Given the description of an element on the screen output the (x, y) to click on. 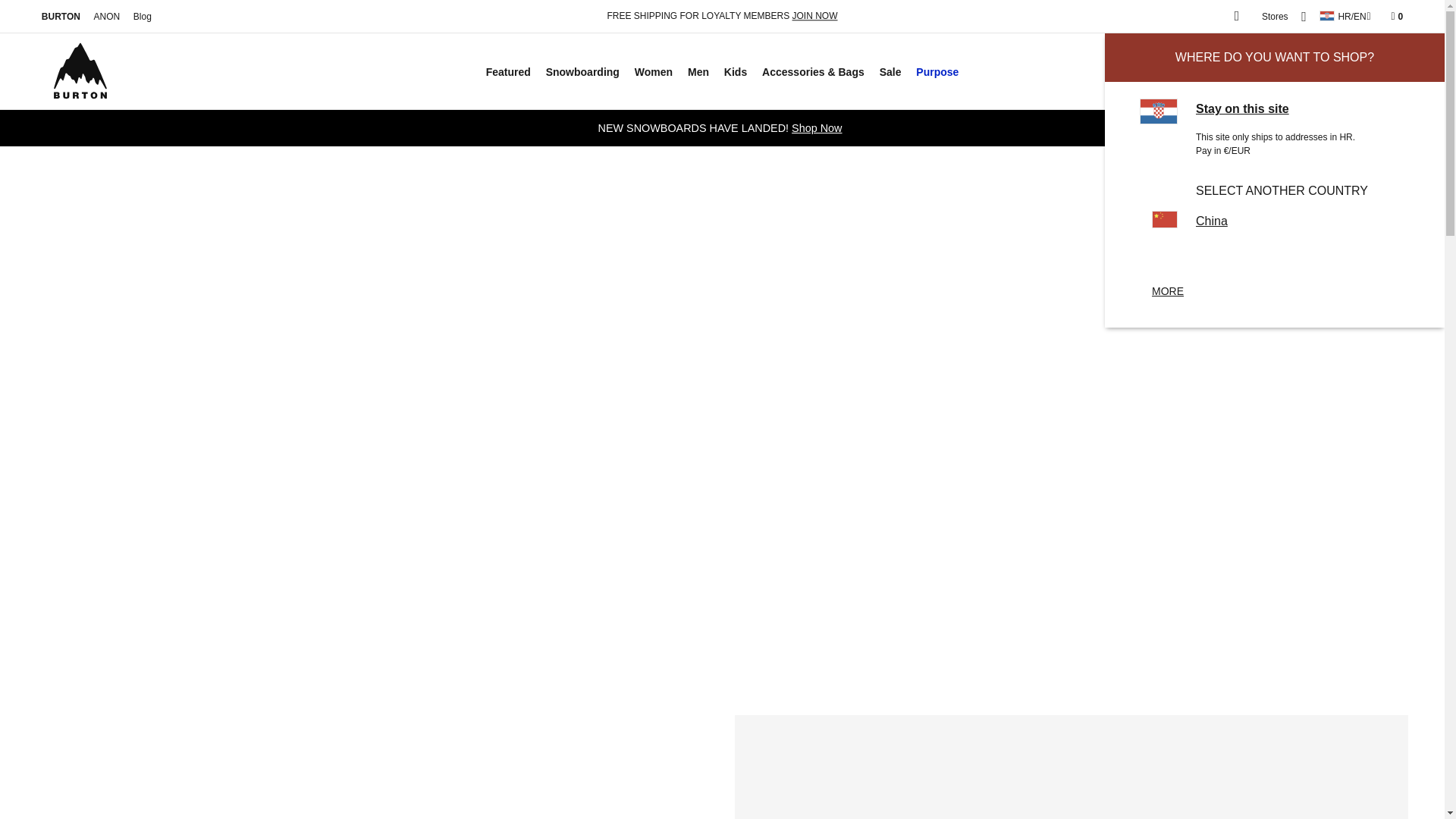
BURTON (60, 16)
ANON (106, 16)
Anon Home (106, 16)
Stores (1274, 16)
Burton Snowboards Home (60, 16)
Burton Snowboards Home (79, 71)
View Wishlist (1236, 16)
